Given the description of an element on the screen output the (x, y) to click on. 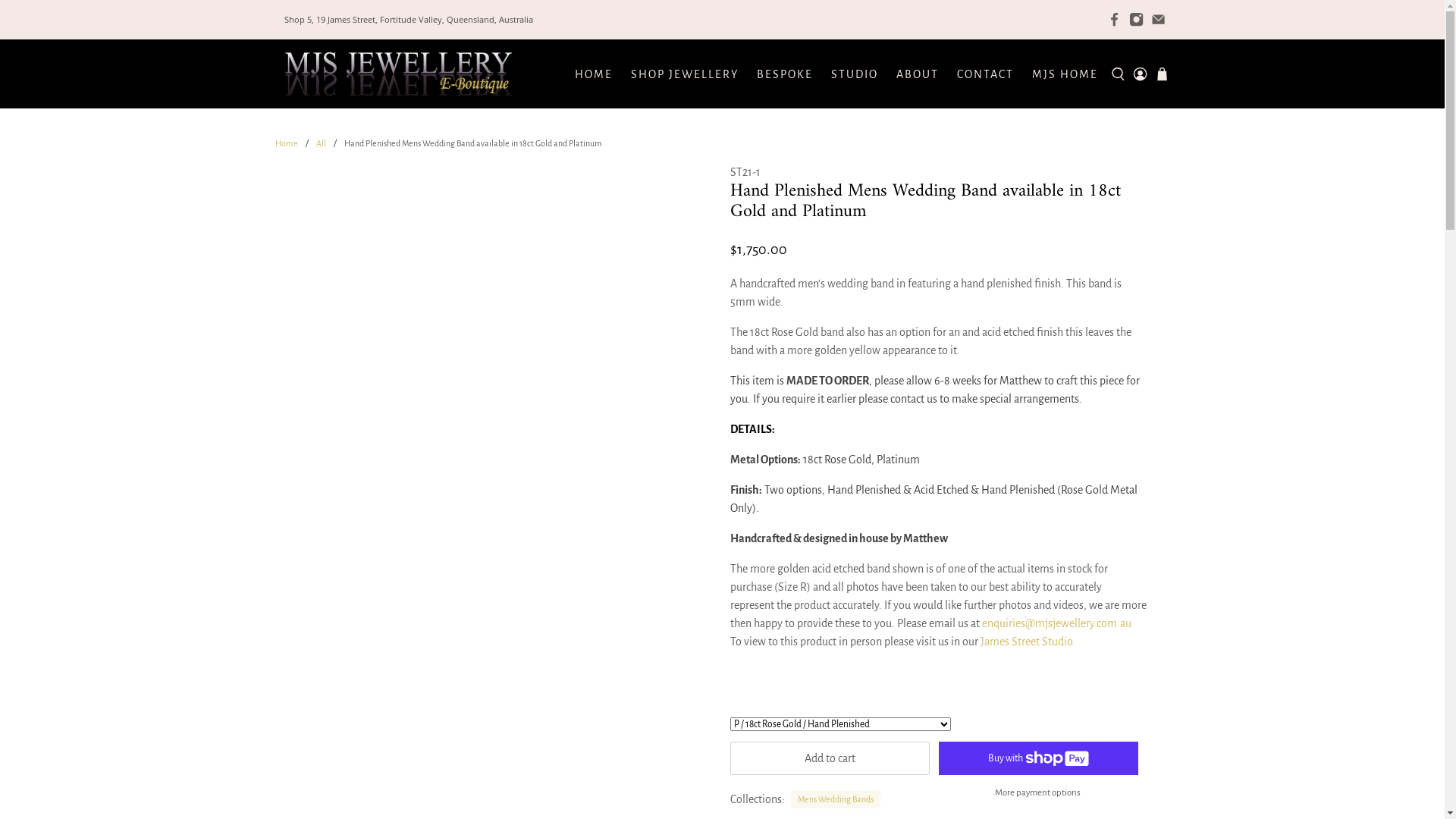
MJS Jewellery on Facebook Element type: hover (1114, 19)
HOME Element type: text (593, 74)
enquiries@mjsjewellery.com.au Element type: text (1055, 623)
MJS Jewellery Element type: hover (397, 73)
All Element type: text (320, 142)
ABOUT Element type: text (917, 74)
Mens Wedding Bands Element type: text (835, 799)
SHOP JEWELLERY Element type: text (684, 74)
STUDIO Element type: text (854, 74)
James Street Studio. Element type: text (1026, 641)
Add to cart Element type: text (828, 758)
Email MJS Jewellery Element type: hover (1158, 19)
BESPOKE Element type: text (784, 74)
MJS Jewellery on Instagram Element type: hover (1136, 19)
MJS HOME Element type: text (1064, 74)
Home Element type: text (285, 142)
CONTACT Element type: text (984, 74)
